Given the description of an element on the screen output the (x, y) to click on. 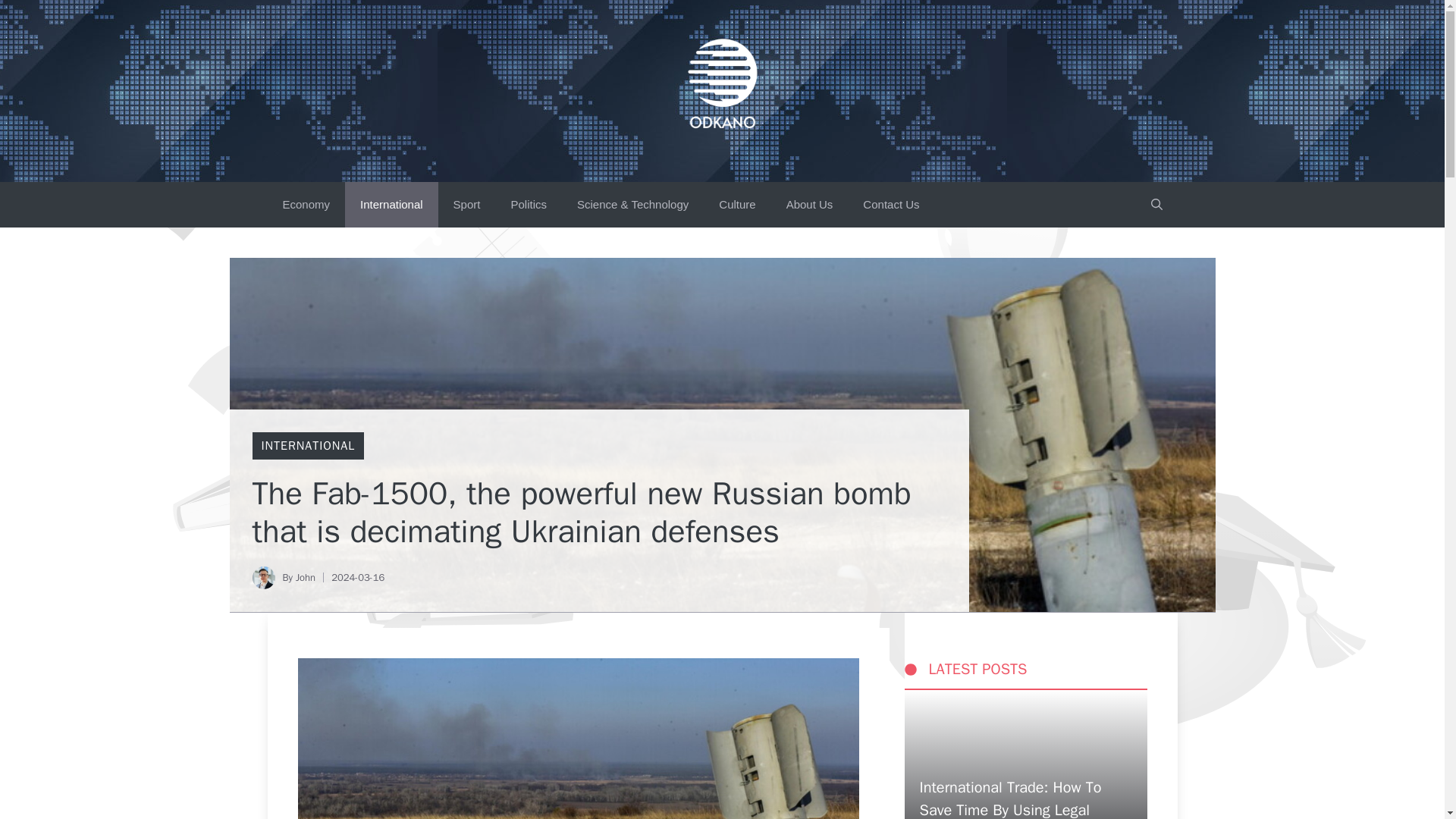
Economy (305, 204)
International (391, 204)
About Us (809, 204)
Culture (736, 204)
Contact Us (890, 204)
INTERNATIONAL (307, 445)
Politics (528, 204)
Sport (467, 204)
